Given the description of an element on the screen output the (x, y) to click on. 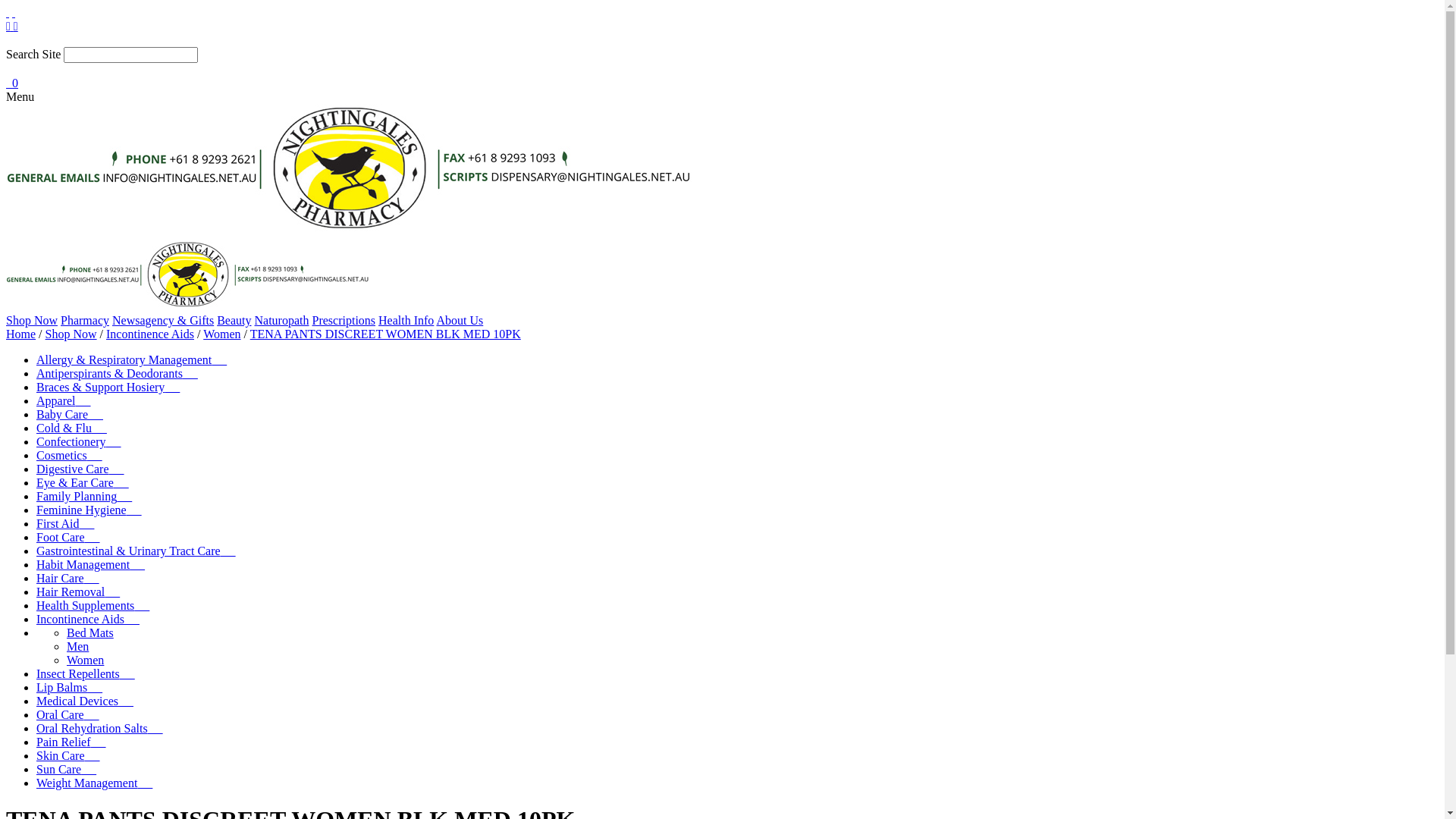
Prescriptions Element type: text (344, 319)
Pharmacy Element type: text (84, 319)
Oral Rehydration Salts      Element type: text (99, 727)
Instagram Element type: hover (15, 25)
Incontinence Aids Element type: text (150, 333)
Oral Care      Element type: text (67, 714)
Braces & Support Hosiery      Element type: text (107, 386)
Feminine Hygiene      Element type: text (88, 509)
Confectionery      Element type: text (78, 441)
Pain Relief      Element type: text (71, 741)
Skin Care      Element type: text (68, 755)
Foot Care      Element type: text (68, 536)
Facebook Element type: hover (9, 25)
Gastrointestinal & Urinary Tract Care      Element type: text (135, 550)
Antiperspirants & Deodorants      Element type: text (116, 373)
Cosmetics      Element type: text (69, 454)
Hair Removal      Element type: text (77, 591)
Beauty Element type: text (233, 319)
Allergy & Respiratory Management      Element type: text (131, 359)
Women Element type: text (84, 659)
Apparel      Element type: text (63, 400)
About Us Element type: text (459, 319)
Medical Devices      Element type: text (84, 700)
Digestive Care      Element type: text (80, 468)
Baby Care      Element type: text (69, 413)
Cold & Flu      Element type: text (71, 427)
Family Planning      Element type: text (83, 495)
Insect Repellents      Element type: text (85, 673)
Lip Balms      Element type: text (69, 686)
TENA PANTS DISCREET WOMEN BLK MED 10PK Element type: text (385, 333)
Menu Element type: hover (13, 12)
Habit Management      Element type: text (90, 564)
Health Info Element type: text (405, 319)
Bed Mats Element type: text (89, 632)
Men Element type: text (77, 646)
Newsagency & Gifts Element type: text (162, 319)
Hair Care      Element type: text (67, 577)
First Aid      Element type: text (65, 523)
Shop Now Element type: text (71, 333)
  0 Element type: text (12, 82)
  Element type: text (13, 12)
Shop Now Element type: text (31, 319)
Naturopath Element type: text (281, 319)
Home Element type: hover (7, 12)
Incontinence Aids      Element type: text (87, 618)
Health Supplements      Element type: text (92, 605)
Eye & Ear Care      Element type: text (82, 482)
Sun Care      Element type: text (66, 768)
  Element type: text (7, 12)
Search Element type: hover (722, 40)
Home Element type: text (20, 333)
Women Element type: text (221, 333)
Weight Management      Element type: text (94, 782)
